Given the description of an element on the screen output the (x, y) to click on. 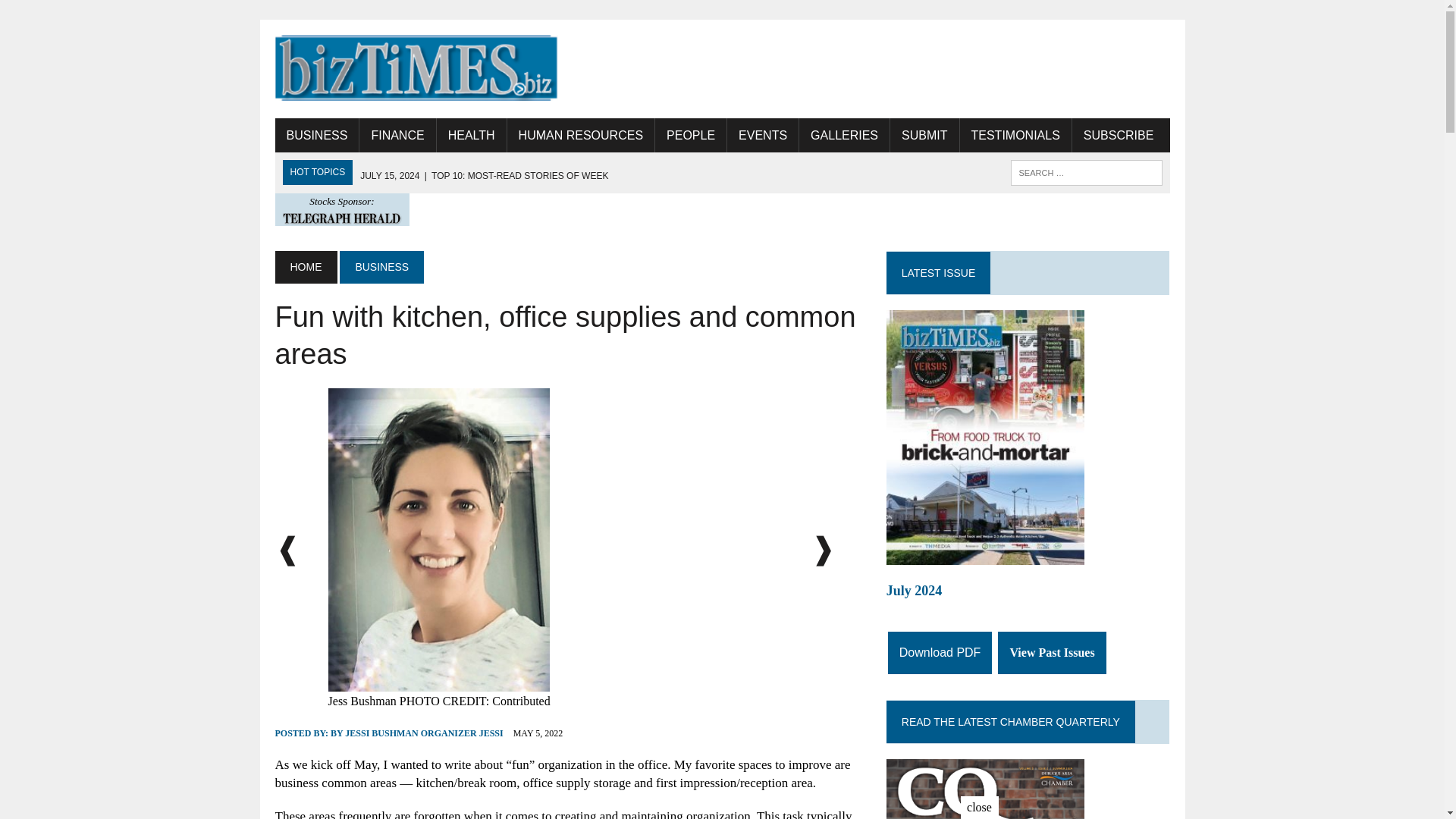
Top 10: Most-read stories of week (483, 175)
PEOPLE (690, 135)
TESTIMONIALS (1015, 135)
BUSINESS (316, 135)
SUBSCRIBE (1117, 135)
3rd party ad content (893, 69)
EVENTS (761, 135)
HEALTH (471, 135)
BizTimes.biz (416, 68)
FINANCE (397, 135)
GALLERIES (844, 135)
HUMAN RESOURCES (579, 135)
SUBMIT (923, 135)
